Given the description of an element on the screen output the (x, y) to click on. 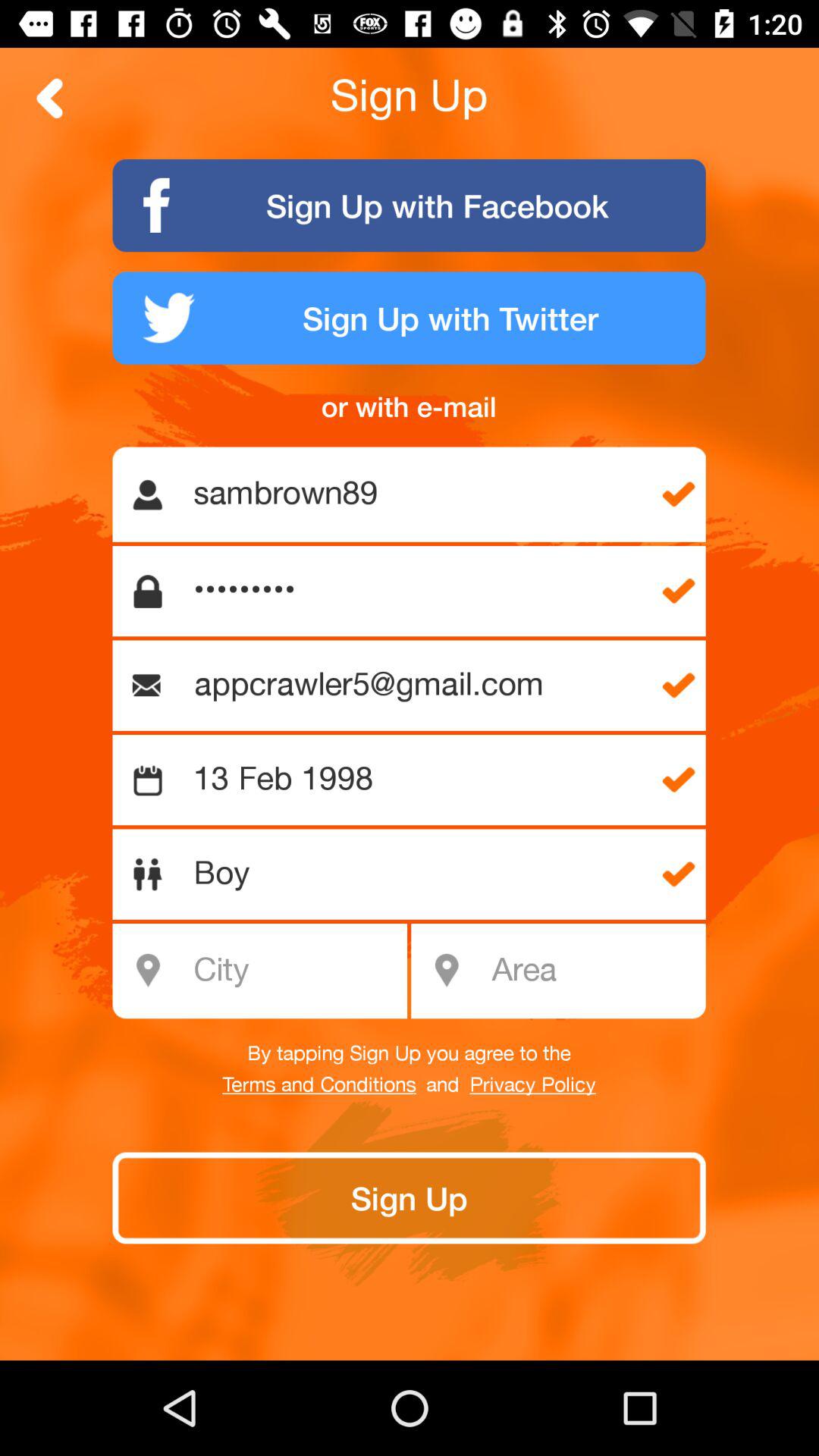
select boy item (417, 874)
